Given the description of an element on the screen output the (x, y) to click on. 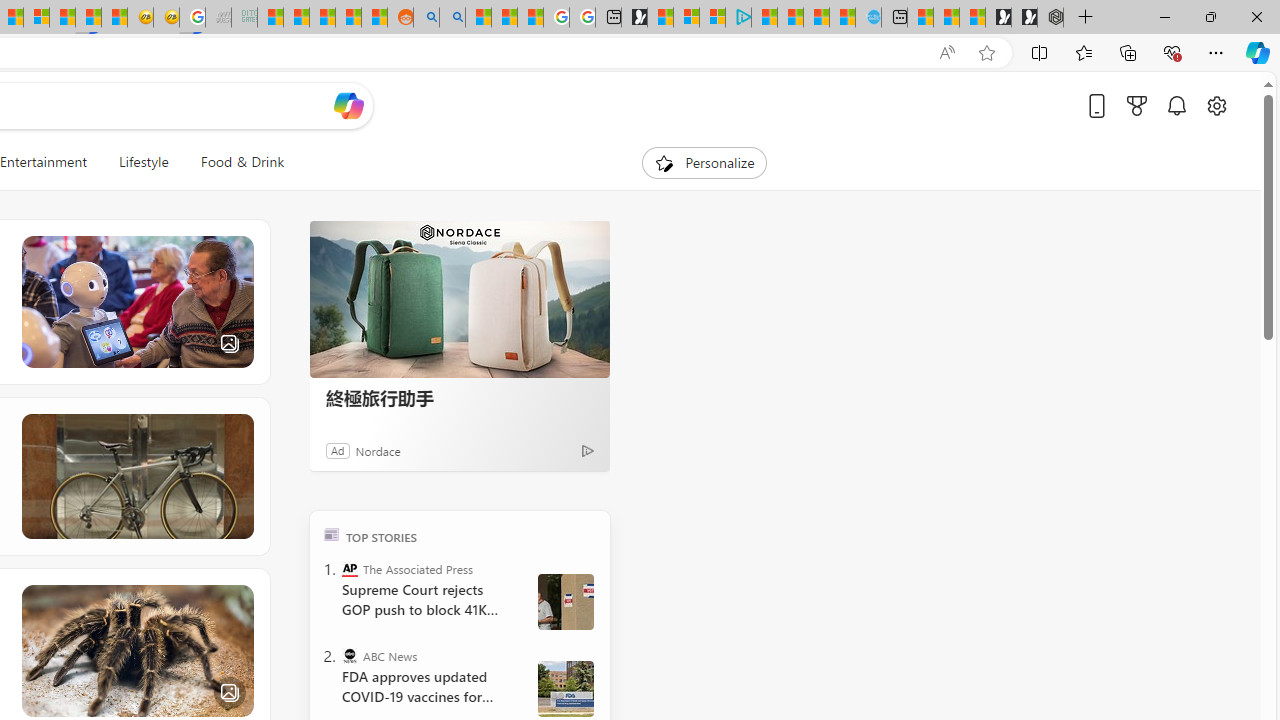
ABC News (349, 655)
